Given the description of an element on the screen output the (x, y) to click on. 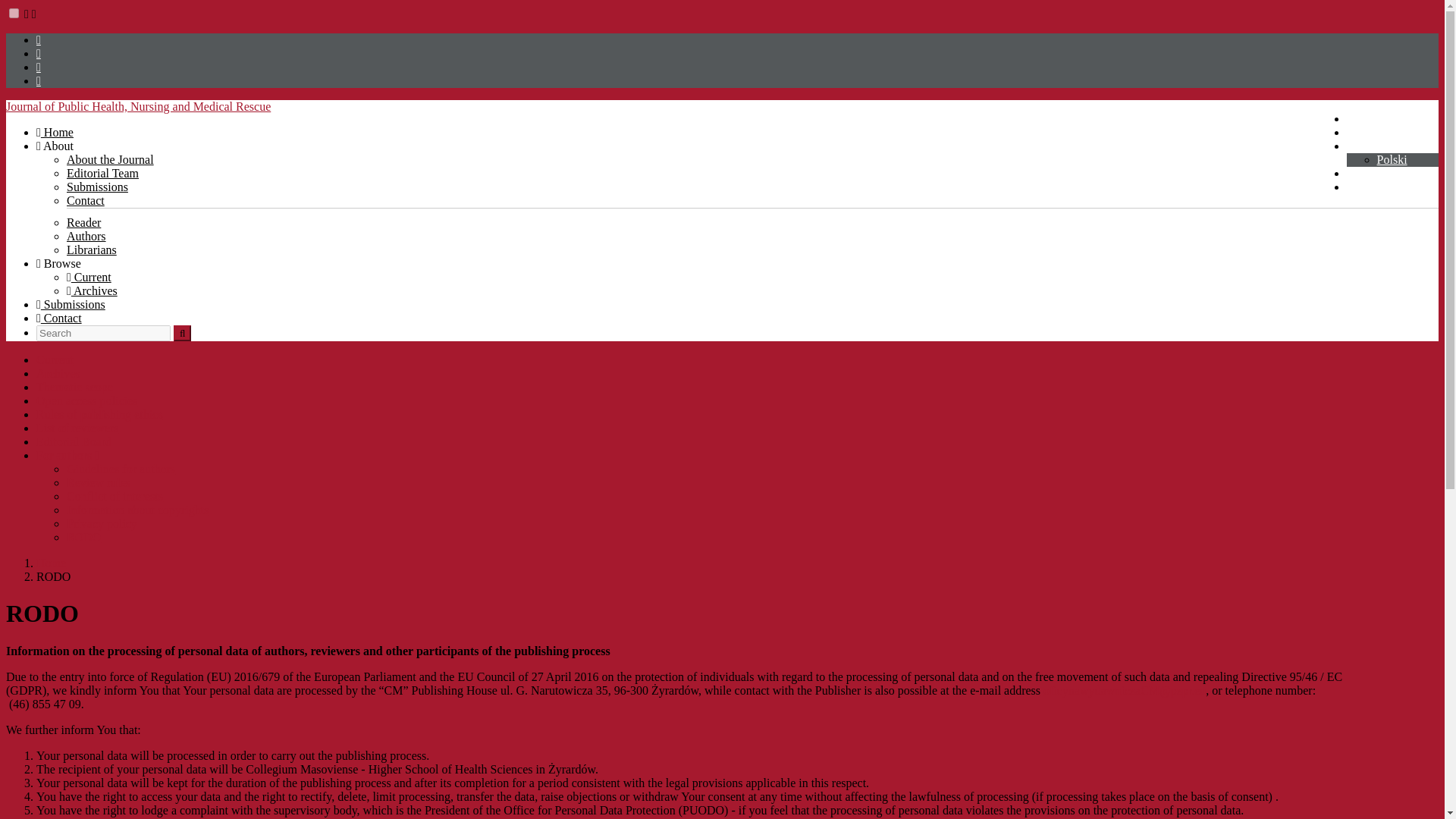
Rules of publishing ethics (99, 413)
Login (1364, 186)
Archives (58, 373)
Authors (86, 236)
Editorial Board (74, 440)
Librarians (91, 249)
Current (89, 277)
on (13, 13)
Review rules (98, 481)
Reader (83, 222)
